Given the description of an element on the screen output the (x, y) to click on. 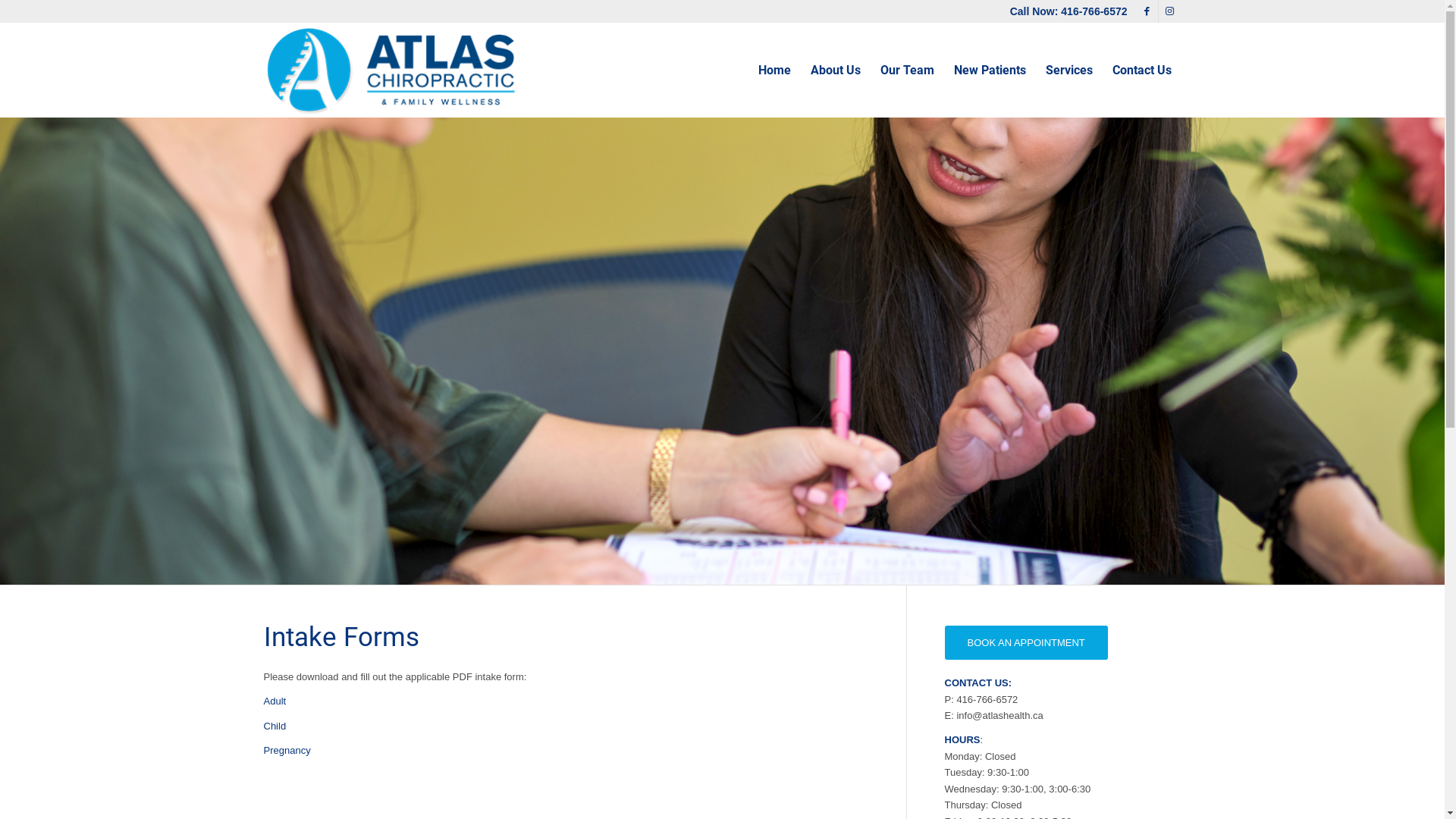
Adult Element type: text (274, 700)
Instagram Element type: hover (1169, 11)
Pregnancy Element type: text (286, 750)
BOOK AN APPOINTMENT Element type: text (1025, 642)
Our Team Element type: text (907, 69)
info@atlashealth.ca Element type: text (999, 715)
Facebook Element type: hover (1146, 11)
Home Element type: text (773, 69)
Atlas-Logo Element type: hover (391, 69)
New Patients Element type: text (989, 69)
Contact Us Element type: text (1141, 69)
Intake Element type: hover (722, 350)
Services Element type: text (1068, 69)
About Us Element type: text (835, 69)
Child Element type: text (274, 725)
